Given the description of an element on the screen output the (x, y) to click on. 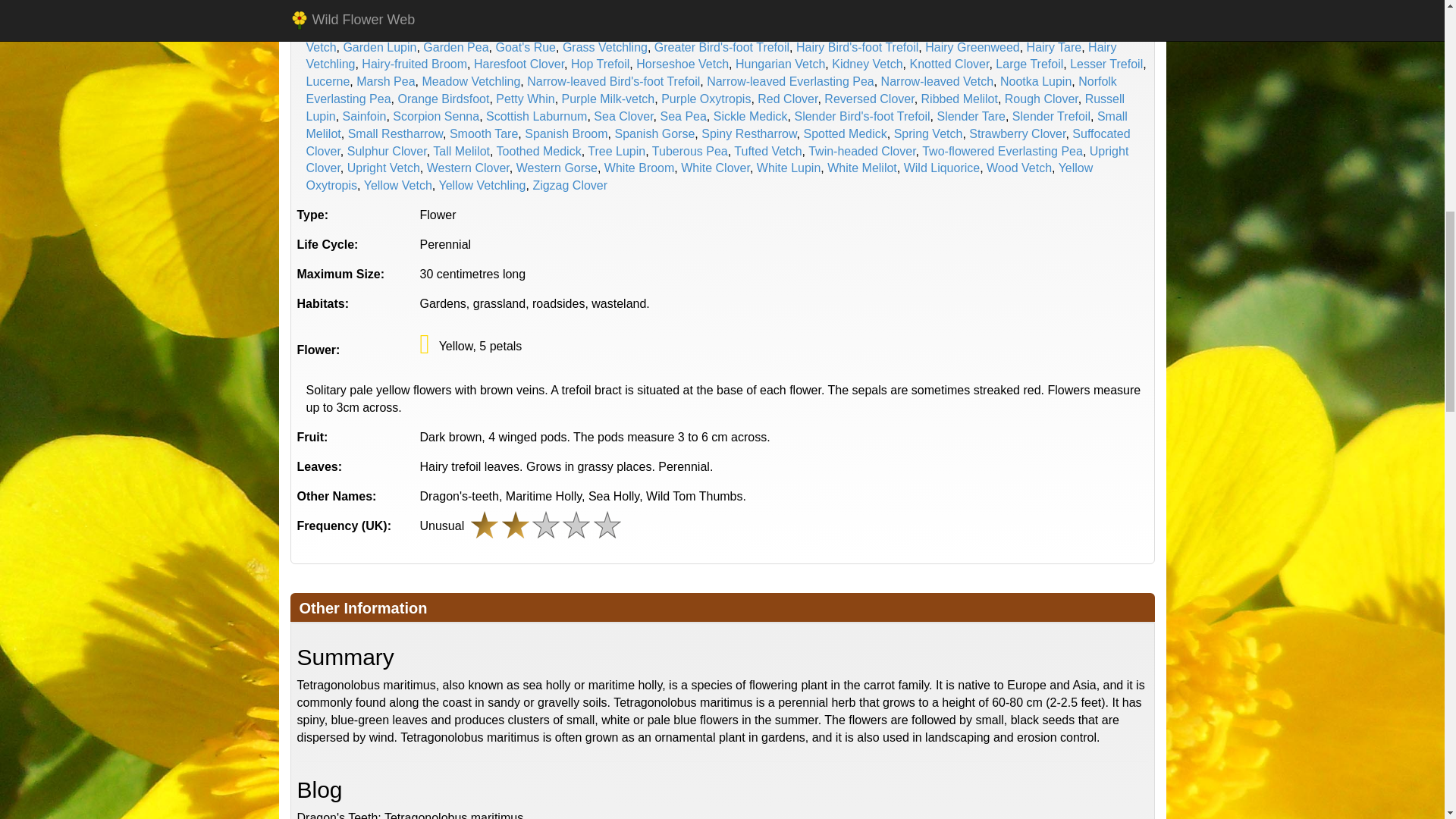
Black Broom (918, 0)
Black Medick (994, 0)
Birdsfoot (504, 0)
Alsike Clover (438, 0)
Bladder Senna (1078, 0)
Broad Bean (338, 11)
Birdsfoot Clover (578, 0)
Bithynian Vetch (766, 0)
Bird's-foot Trefoil (673, 0)
Bitter Vetch (846, 0)
Alpine Milk-vetch (351, 0)
